Given the description of an element on the screen output the (x, y) to click on. 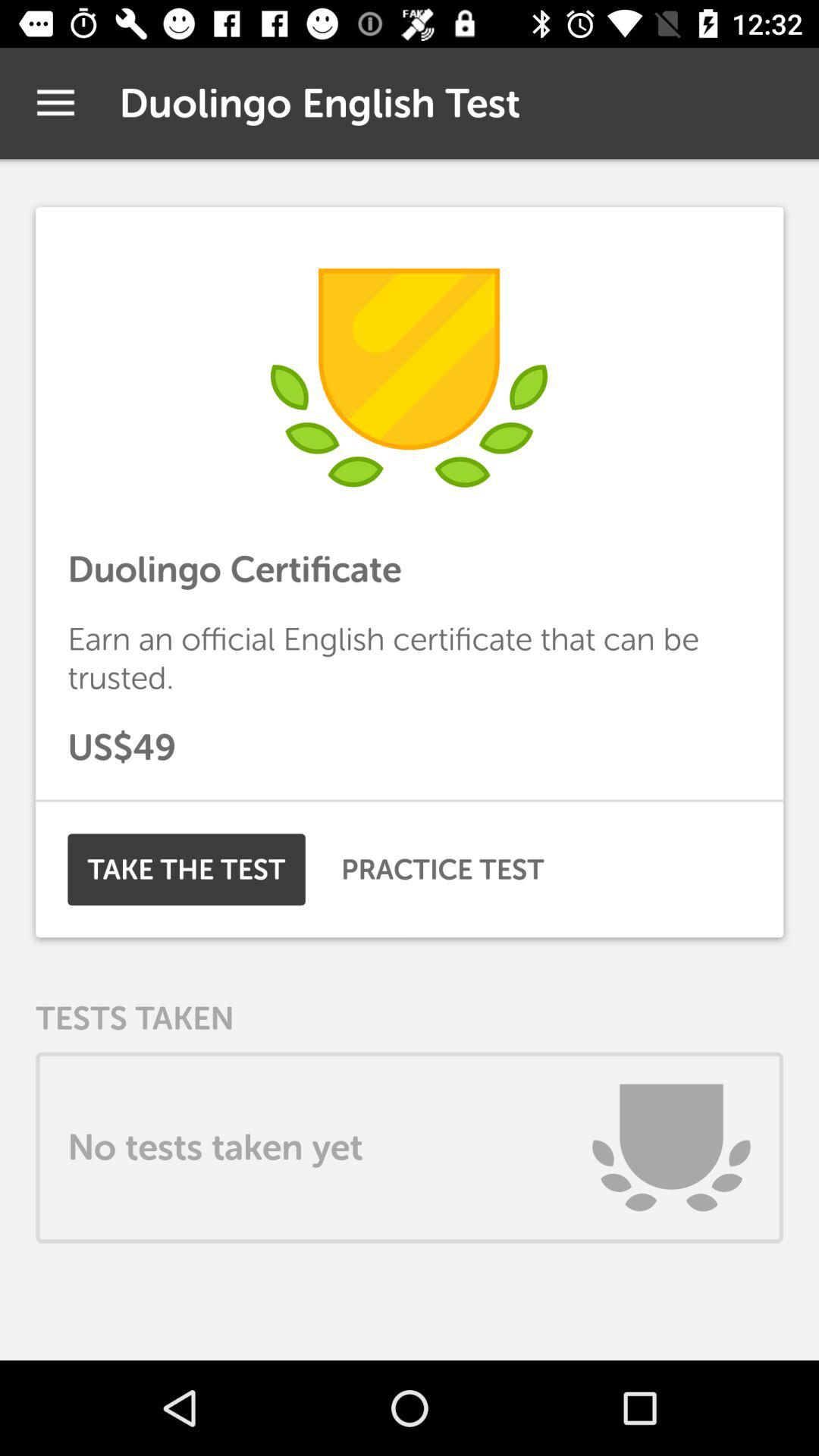
launch the icon to the right of the take the test (442, 869)
